Given the description of an element on the screen output the (x, y) to click on. 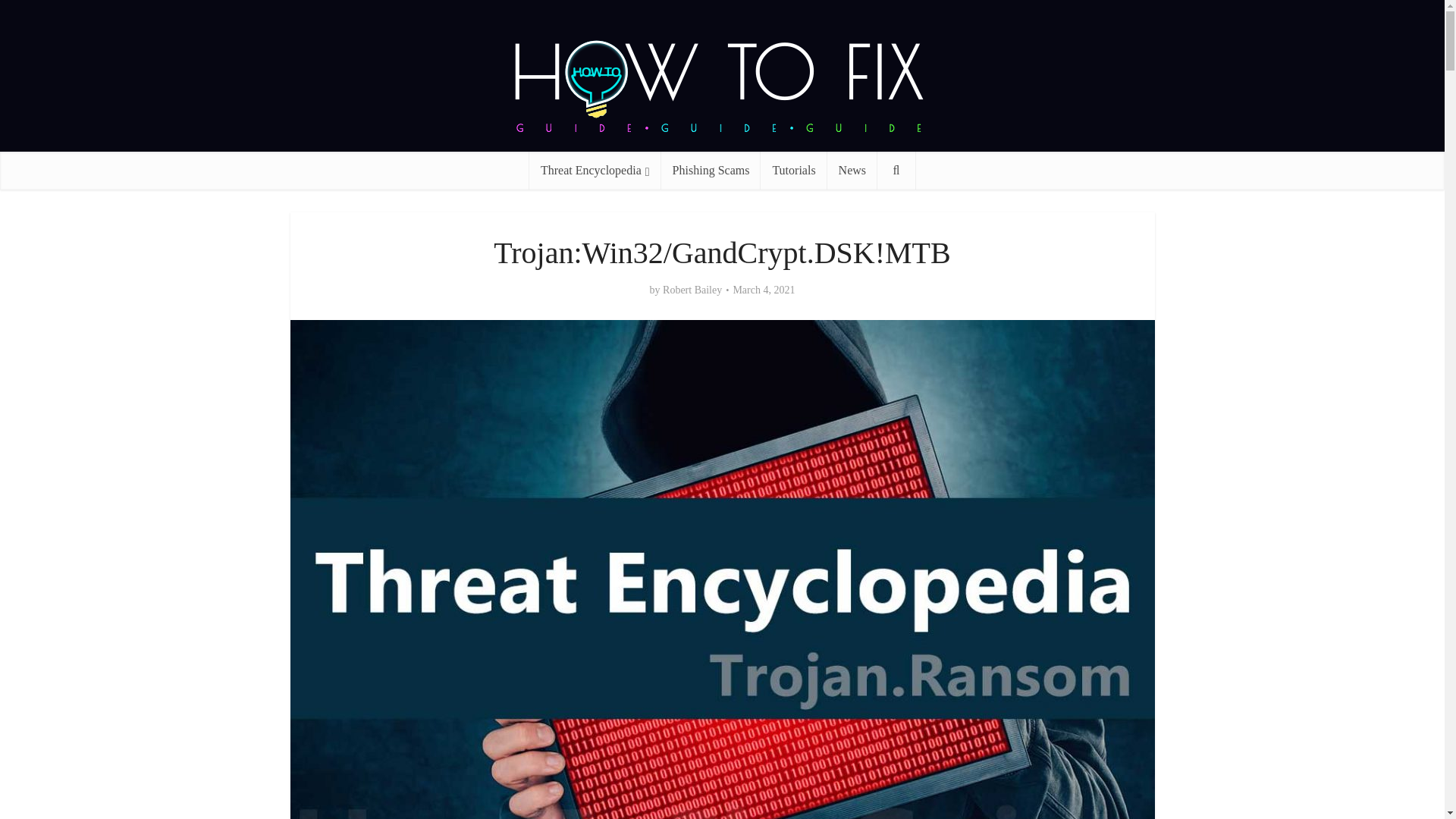
Tutorials (793, 170)
Threat Encyclopedia (595, 170)
Robert Bailey (692, 290)
Phishing Scams (711, 170)
News (852, 170)
